Given the description of an element on the screen output the (x, y) to click on. 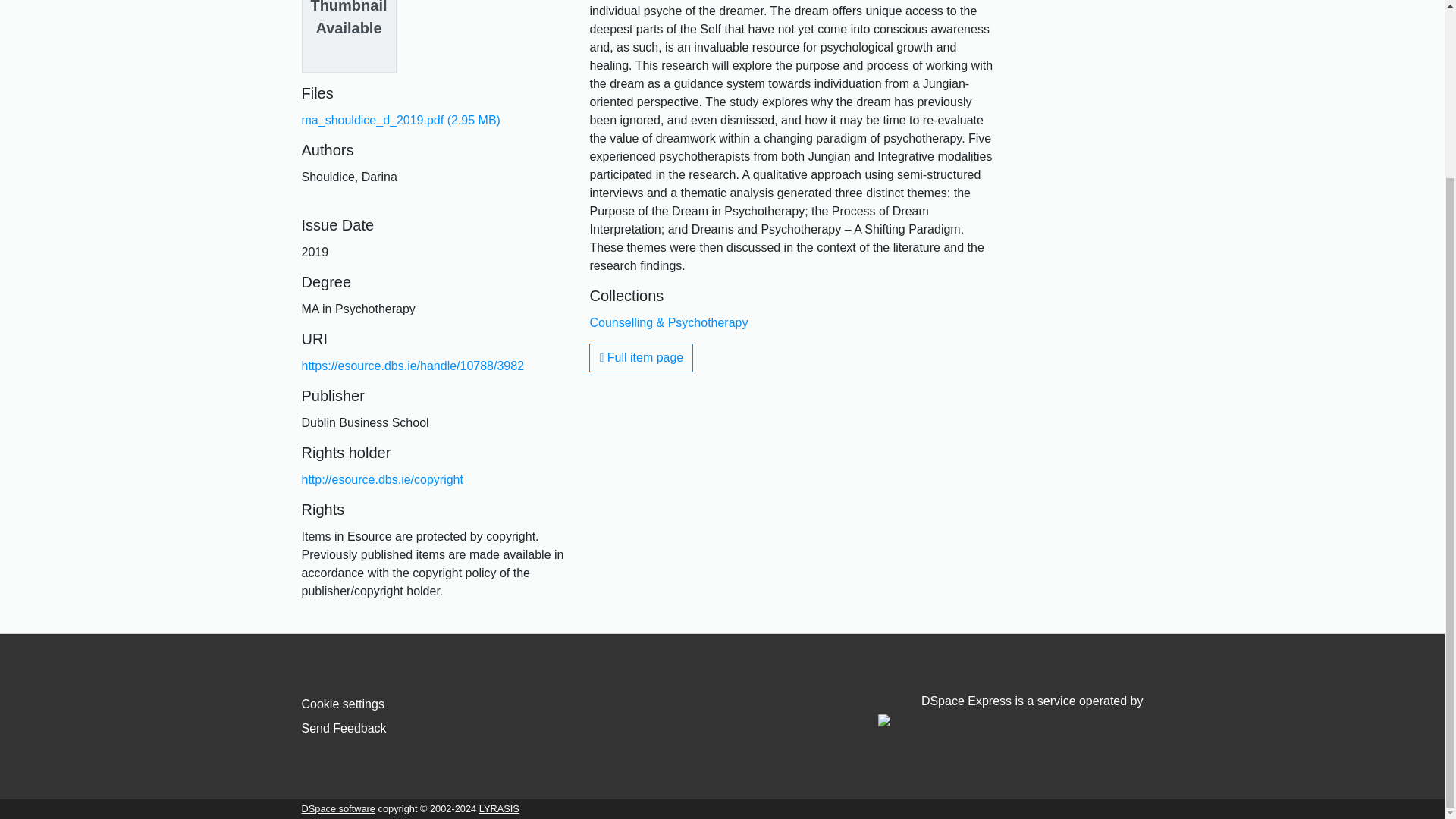
DSpace software (338, 808)
Full item page (641, 357)
DSpace Express is a service operated by (1009, 710)
Send Feedback (344, 727)
Cookie settings (342, 703)
LYRASIS (499, 808)
